Given the description of an element on the screen output the (x, y) to click on. 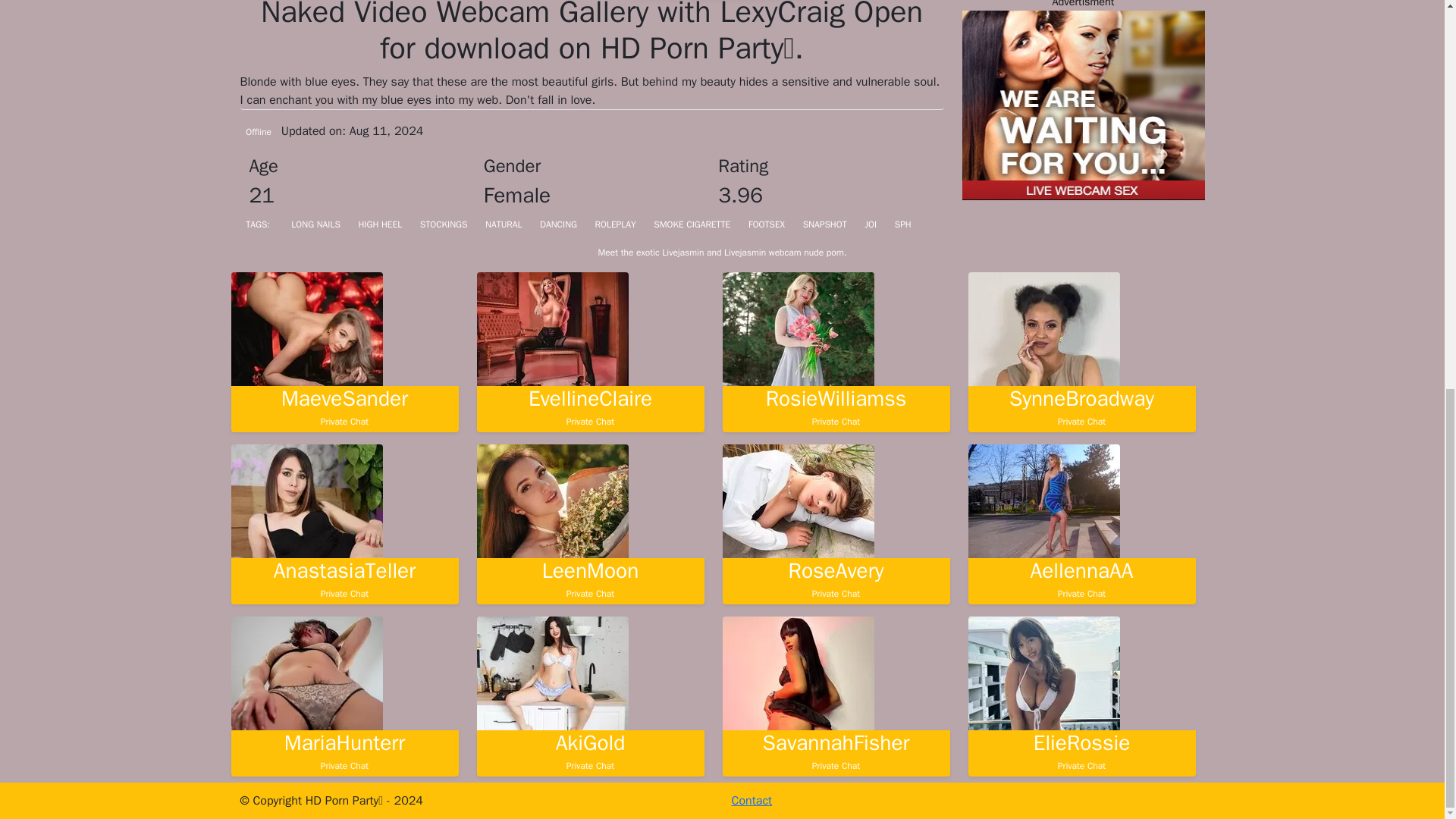
View EvellineClaire Fuck Vids and Pics (589, 406)
View EvellineClaire Fuck Vids and Pics (835, 751)
